Given the description of an element on the screen output the (x, y) to click on. 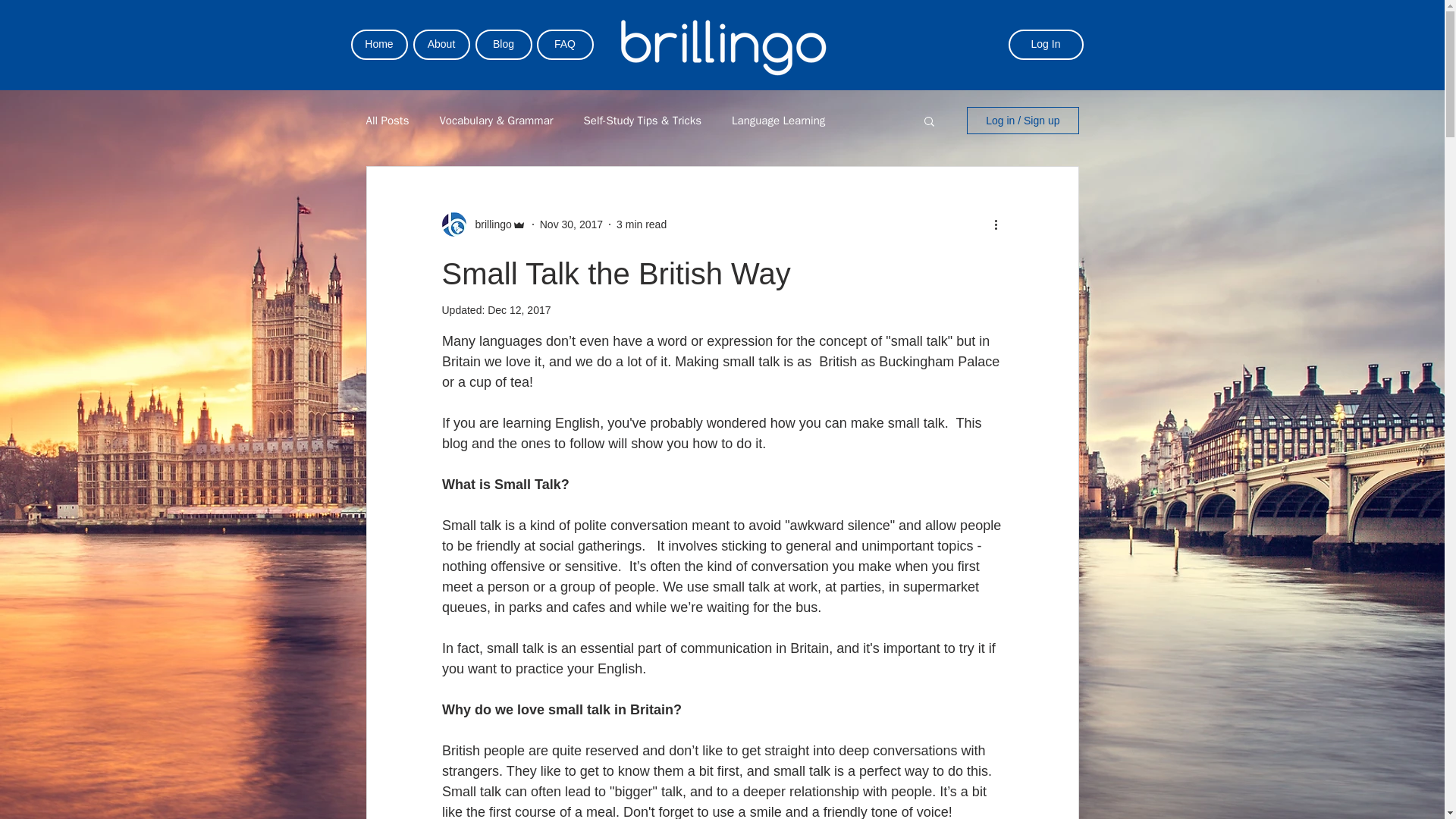
Dec 12, 2017 (518, 309)
Home (378, 44)
FAQ (565, 44)
3 min read (640, 224)
Blog (502, 44)
Language Learning (778, 120)
All Posts (387, 120)
Nov 30, 2017 (571, 224)
About (440, 44)
brillingo (488, 224)
Log In (1046, 44)
